Given the description of an element on the screen output the (x, y) to click on. 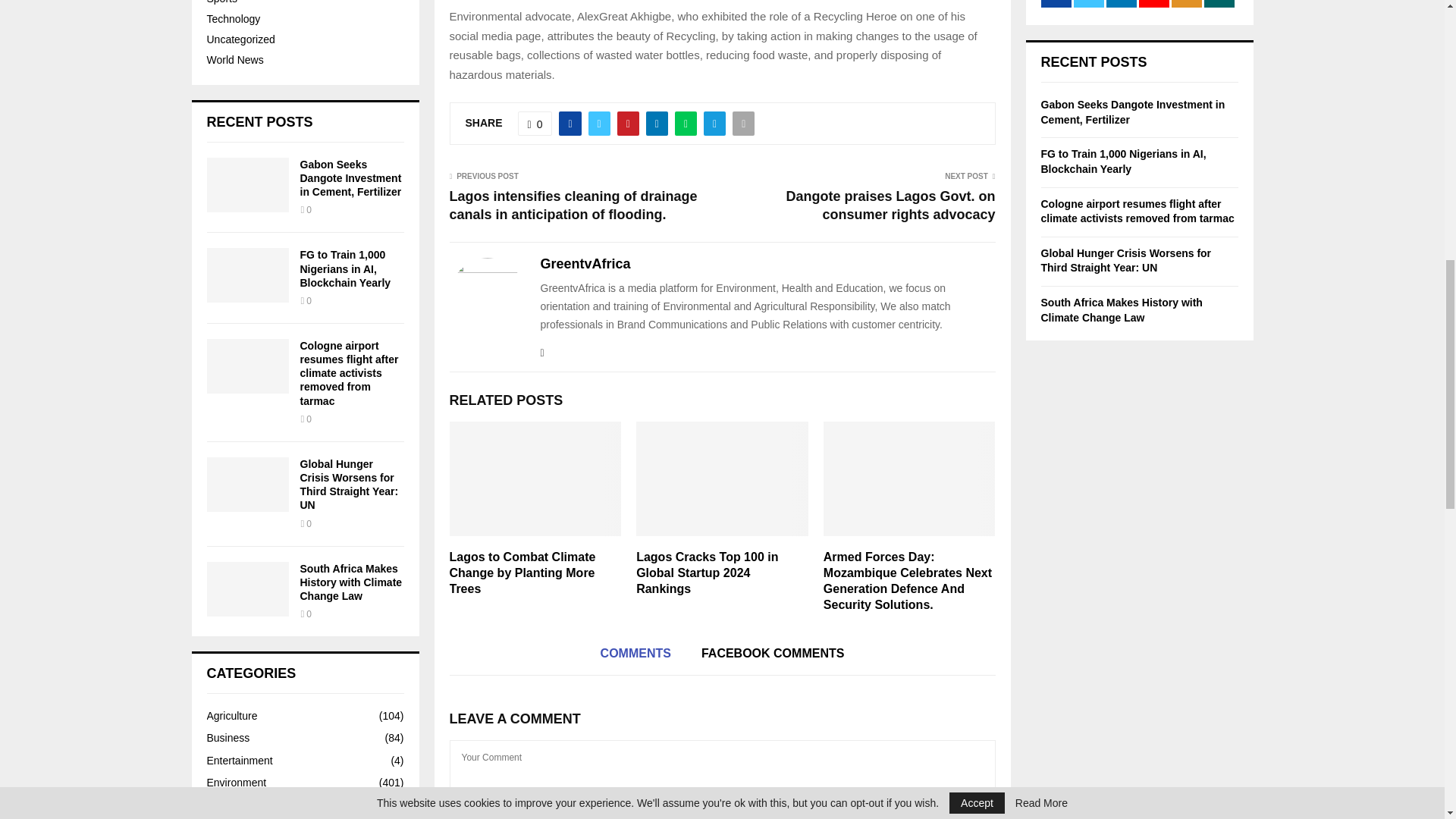
0 (535, 123)
Like (535, 123)
